Given the description of an element on the screen output the (x, y) to click on. 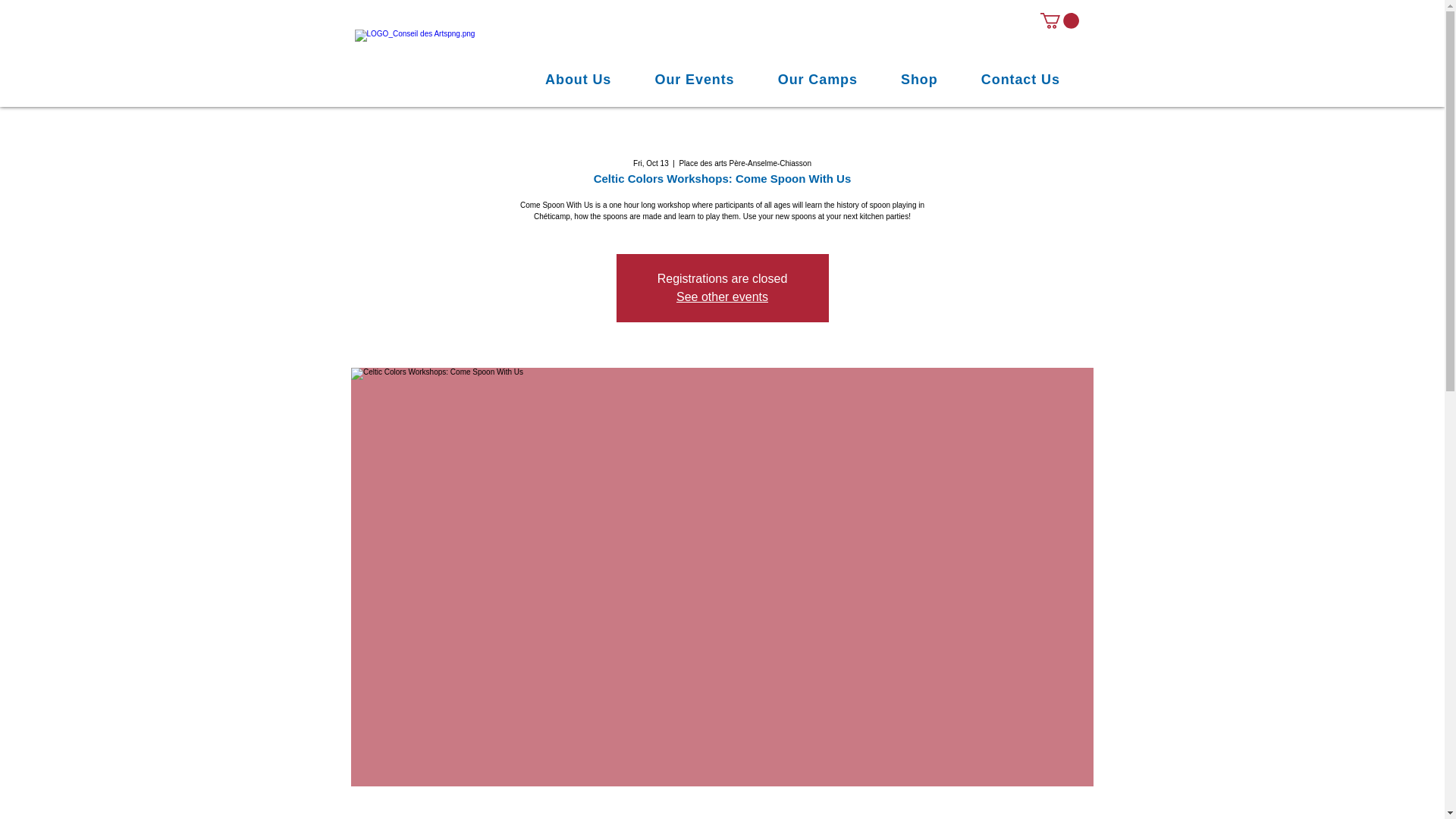
See other events (722, 296)
Our Camps (817, 79)
About Us (576, 79)
Our Events (694, 79)
Contact Us (1020, 79)
Shop (919, 79)
